Given the description of an element on the screen output the (x, y) to click on. 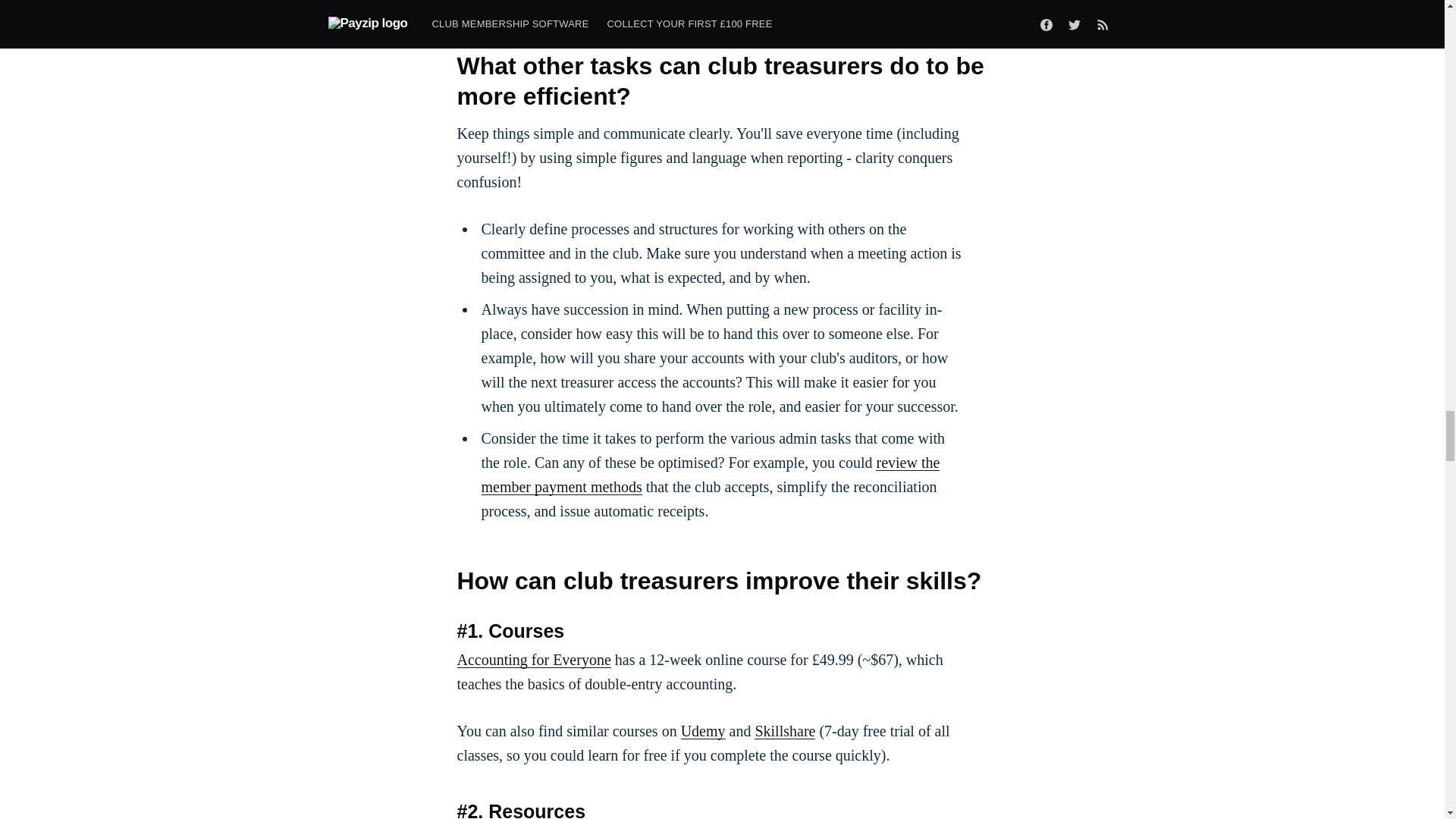
review the member payment methods (709, 474)
Udemy (703, 730)
Accounting for Everyone (533, 659)
apps and tools to help run your sports club better (607, 2)
Skillshare (784, 730)
